Given the description of an element on the screen output the (x, y) to click on. 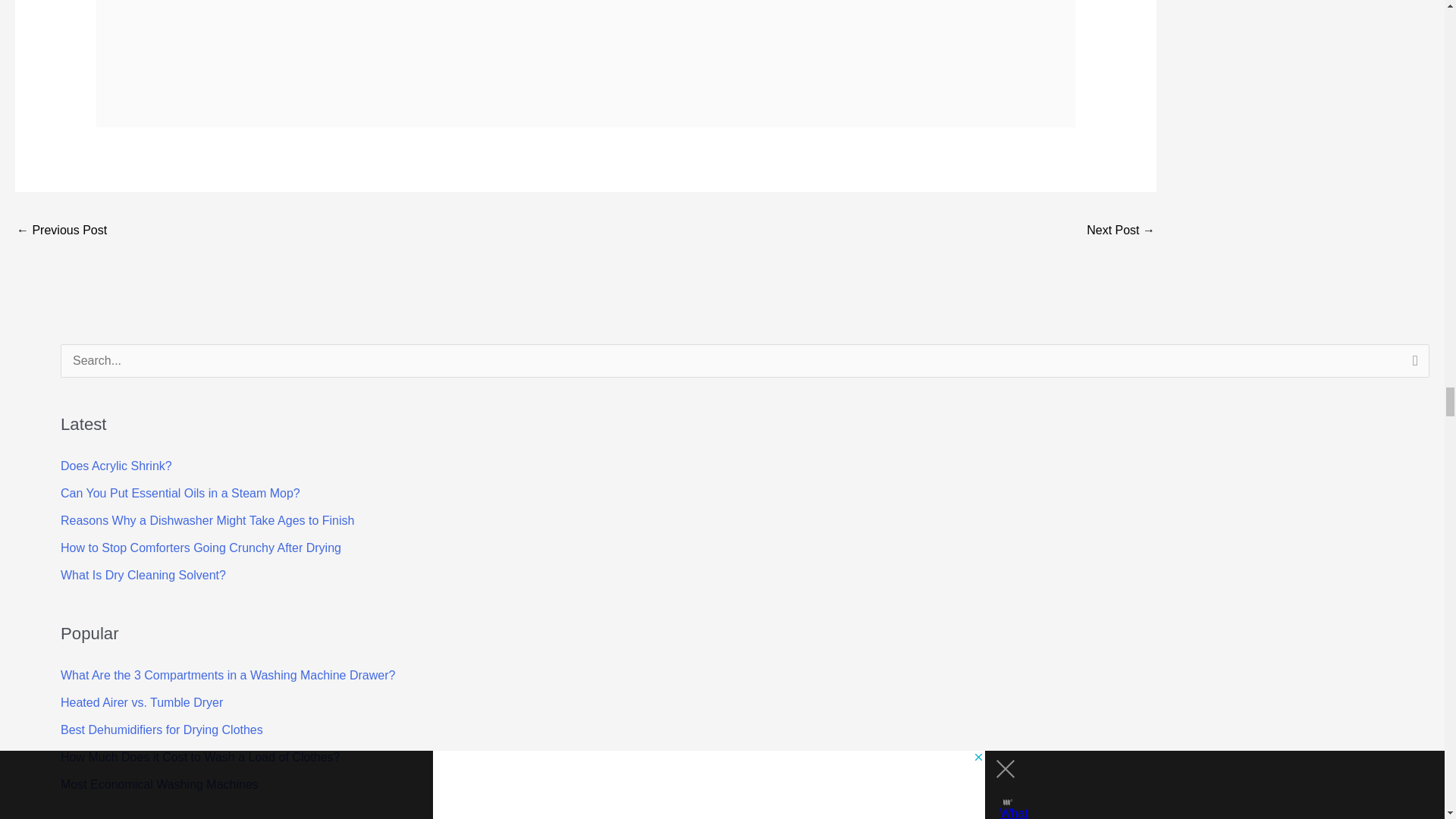
Can You Put Essential Oils in a Steam Mop? (180, 492)
How to Clean Grime Off Wood (61, 231)
Does Acrylic Shrink? (116, 465)
How to Get Creases Out of Polyester (1120, 231)
